Given the description of an element on the screen output the (x, y) to click on. 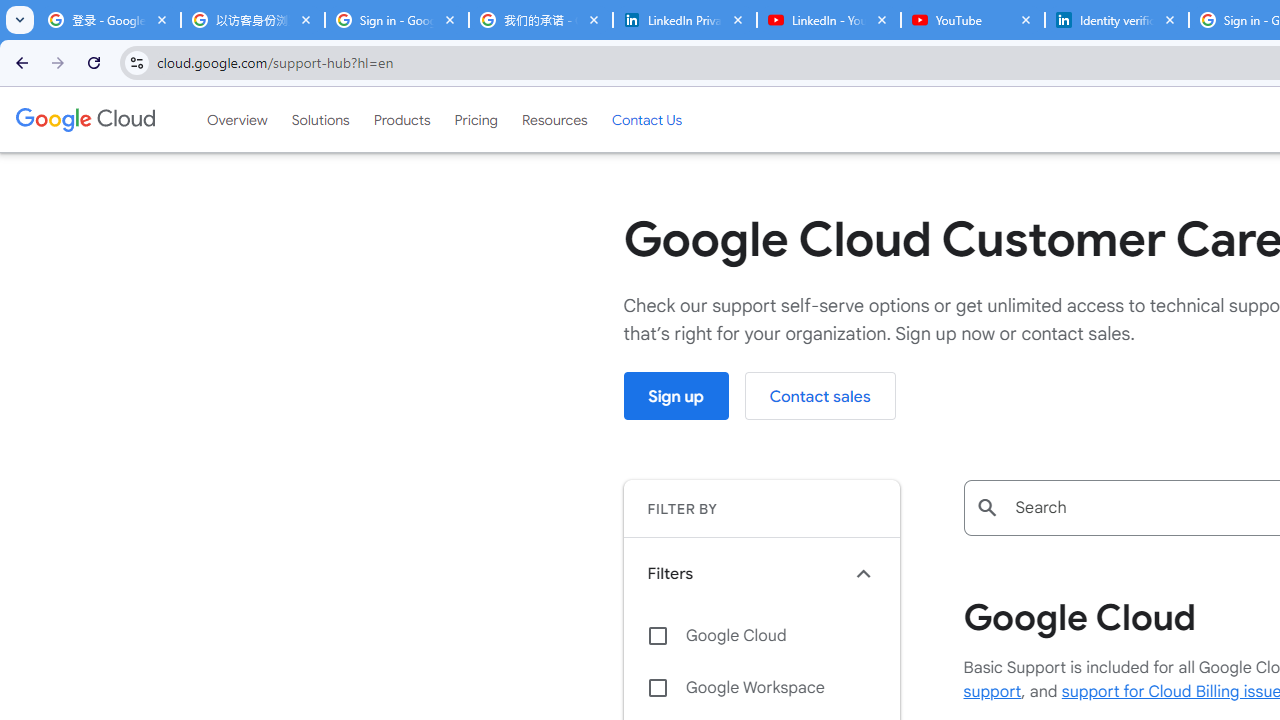
Forward (57, 62)
Identity verification via Persona | LinkedIn Help (1116, 20)
System (10, 11)
Sign in - Google Accounts (396, 20)
LinkedIn Privacy Policy (684, 20)
Google Cloud (761, 635)
Solutions (320, 119)
View site information (136, 62)
YouTube (972, 20)
Back (19, 62)
Overview (236, 119)
Products (401, 119)
